Given the description of an element on the screen output the (x, y) to click on. 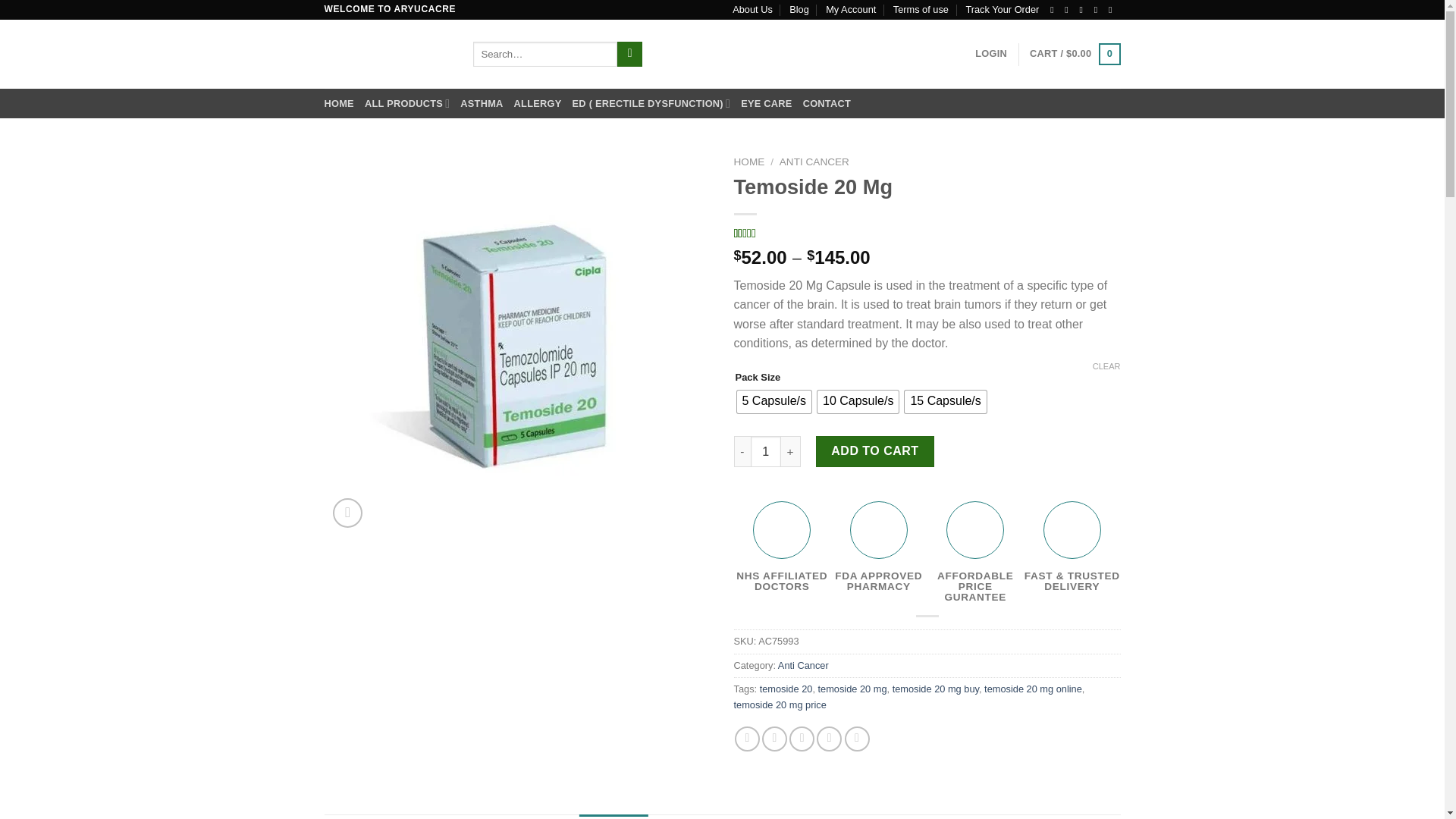
NHS AFFILIATED DOCTORS (782, 546)
LOGIN (991, 53)
ASTHMA (481, 103)
1 (765, 450)
Terms of use (921, 9)
About Us (752, 9)
Search (629, 54)
HOME (338, 103)
Track Your Order (1002, 9)
Cart (1074, 54)
ALL PRODUCTS (407, 102)
FDA APPROVED PHARMACY (878, 546)
Blog (799, 9)
Zoom (347, 512)
My Account (850, 9)
